Given the description of an element on the screen output the (x, y) to click on. 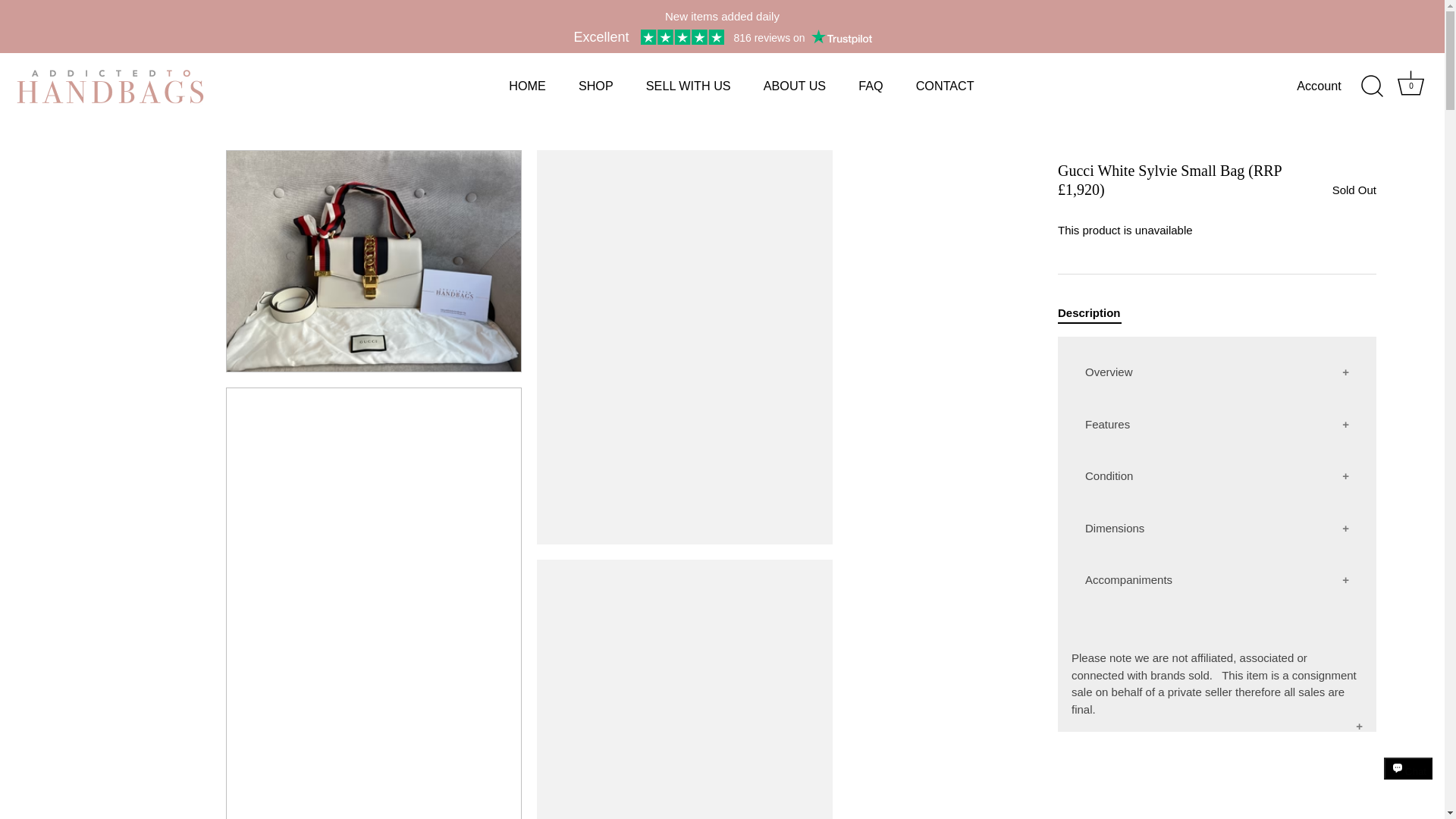
HOME (527, 85)
Description (1089, 312)
CONTACT (944, 85)
Account (1332, 85)
Cart (1410, 82)
SELL WITH US (687, 85)
FAQ (1411, 86)
SHOP (871, 85)
